Given the description of an element on the screen output the (x, y) to click on. 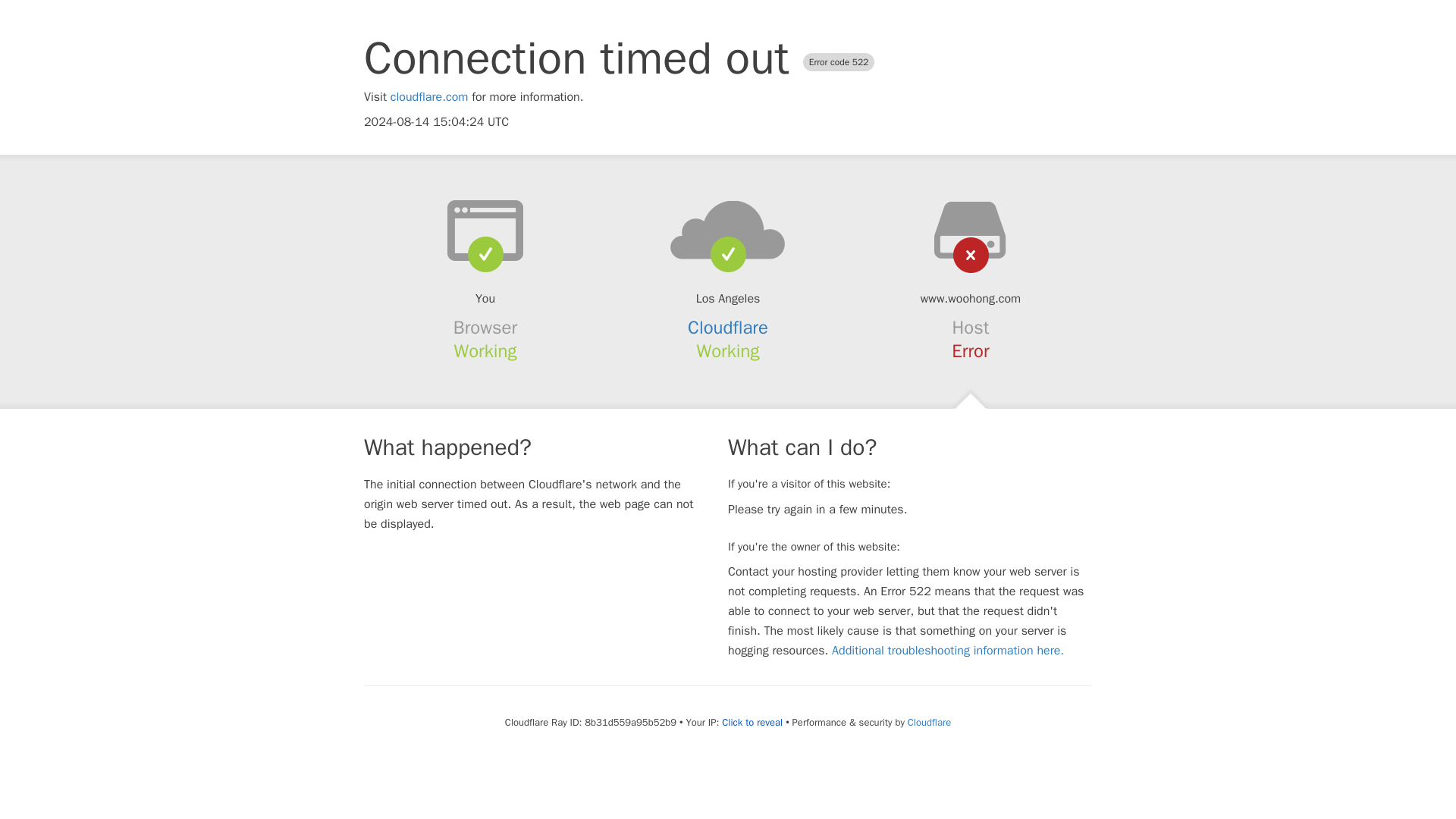
cloudflare.com (429, 96)
Cloudflare (727, 327)
Cloudflare (928, 721)
Click to reveal (752, 722)
Additional troubleshooting information here. (947, 650)
